Given the description of an element on the screen output the (x, y) to click on. 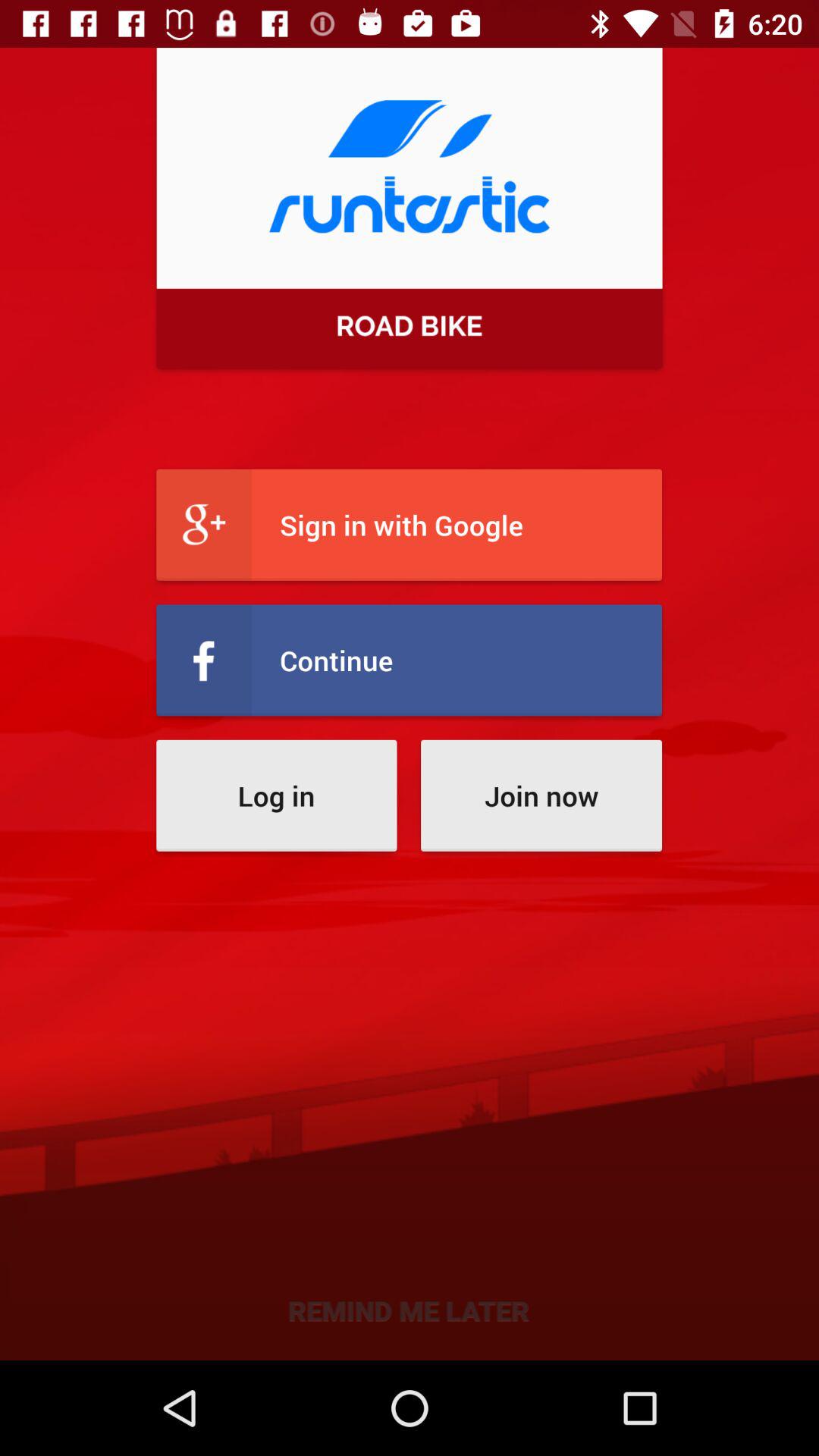
press icon above the log in item (409, 660)
